Given the description of an element on the screen output the (x, y) to click on. 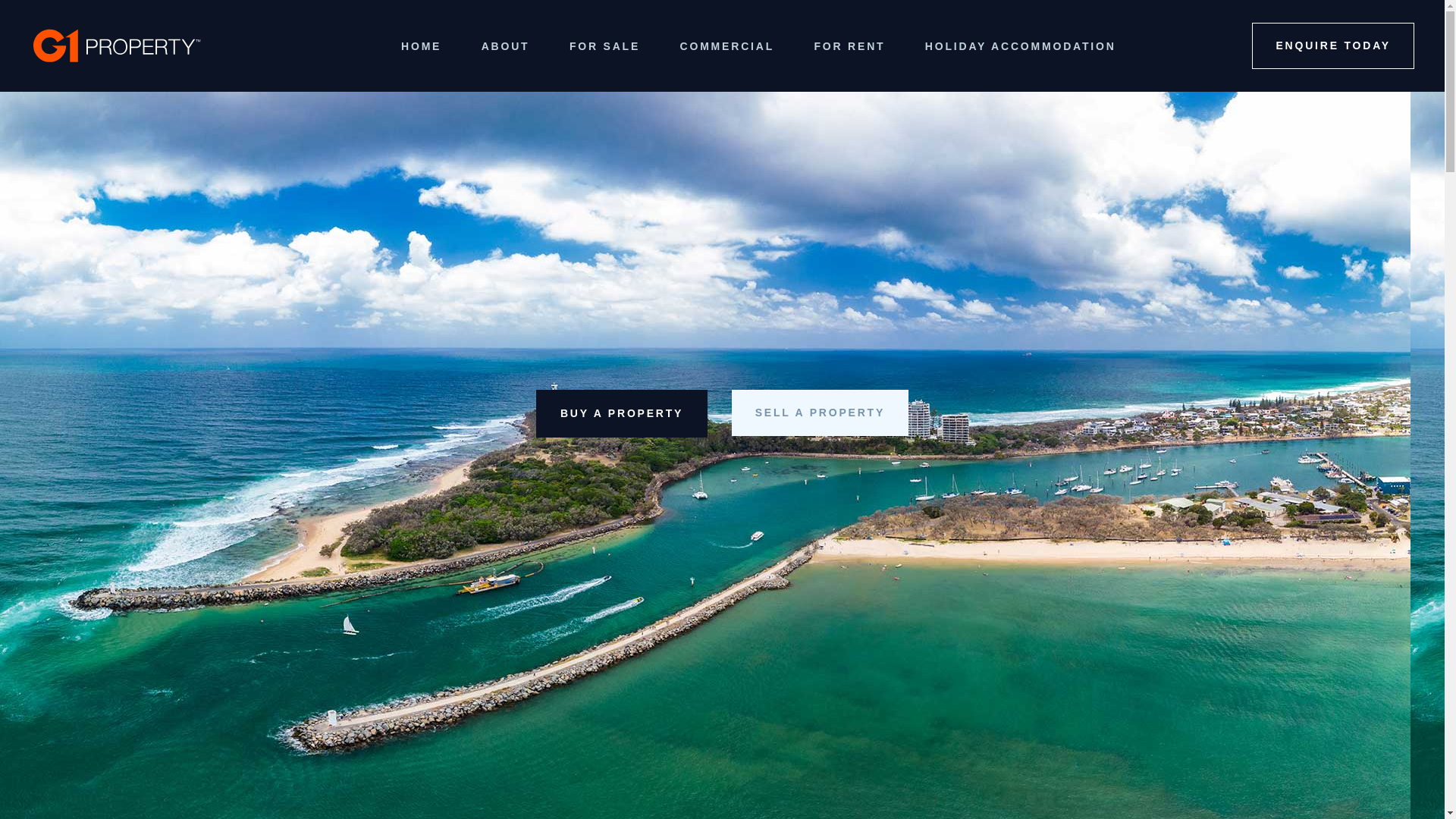
COMMERCIAL Element type: text (727, 46)
ABOUT Element type: text (505, 46)
ENQUIRE TODAY Element type: text (1333, 45)
FOR RENT Element type: text (849, 46)
HOLIDAY ACCOMMODATION Element type: text (1020, 46)
FOR SALE Element type: text (604, 46)
HOME Element type: text (420, 46)
SELL A PROPERTY Element type: text (819, 412)
BUY A PROPERTY Element type: text (621, 413)
